Given the description of an element on the screen output the (x, y) to click on. 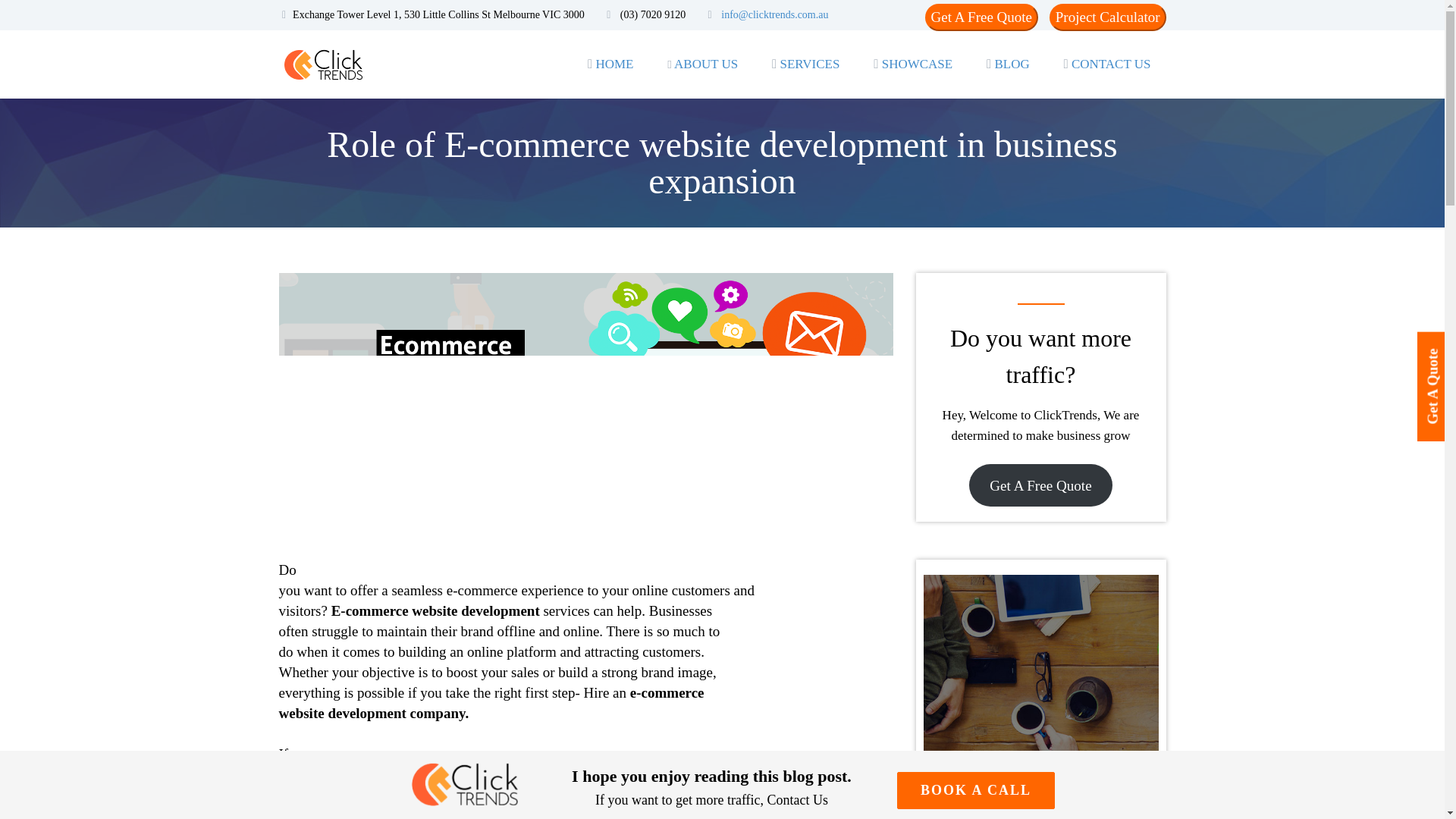
HOME (610, 64)
Project Calculator (1107, 17)
SHOWCASE (913, 64)
ABOUT US (702, 64)
Get A Free Quote (1040, 485)
BLOG (1008, 64)
Get A Free Quote (981, 17)
SERVICES (805, 64)
Project Calculator (1107, 17)
CONTACT US (1107, 64)
